Given the description of an element on the screen output the (x, y) to click on. 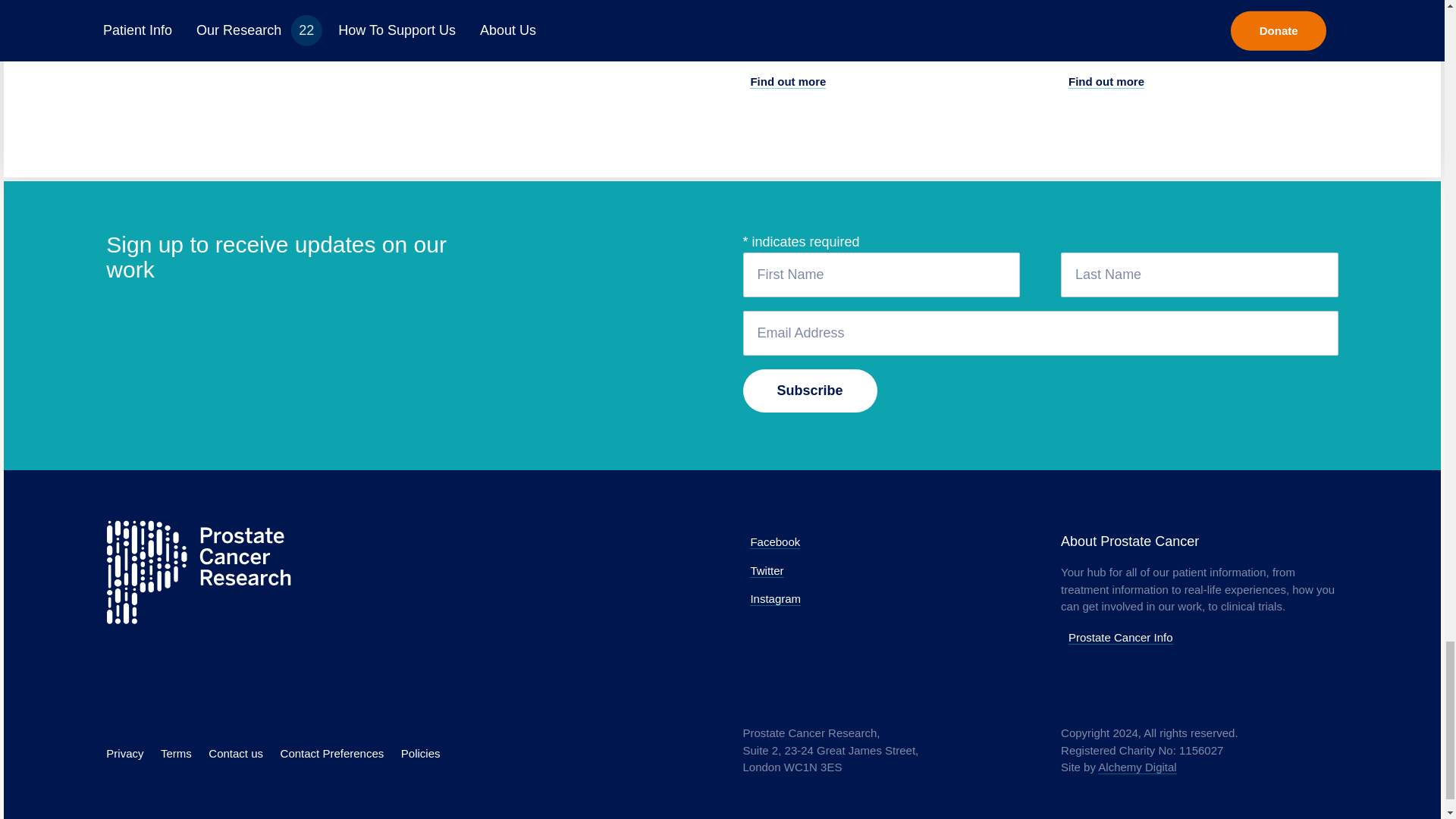
Subscribe (809, 390)
Website by Alchemy Digital (1136, 766)
